Given the description of an element on the screen output the (x, y) to click on. 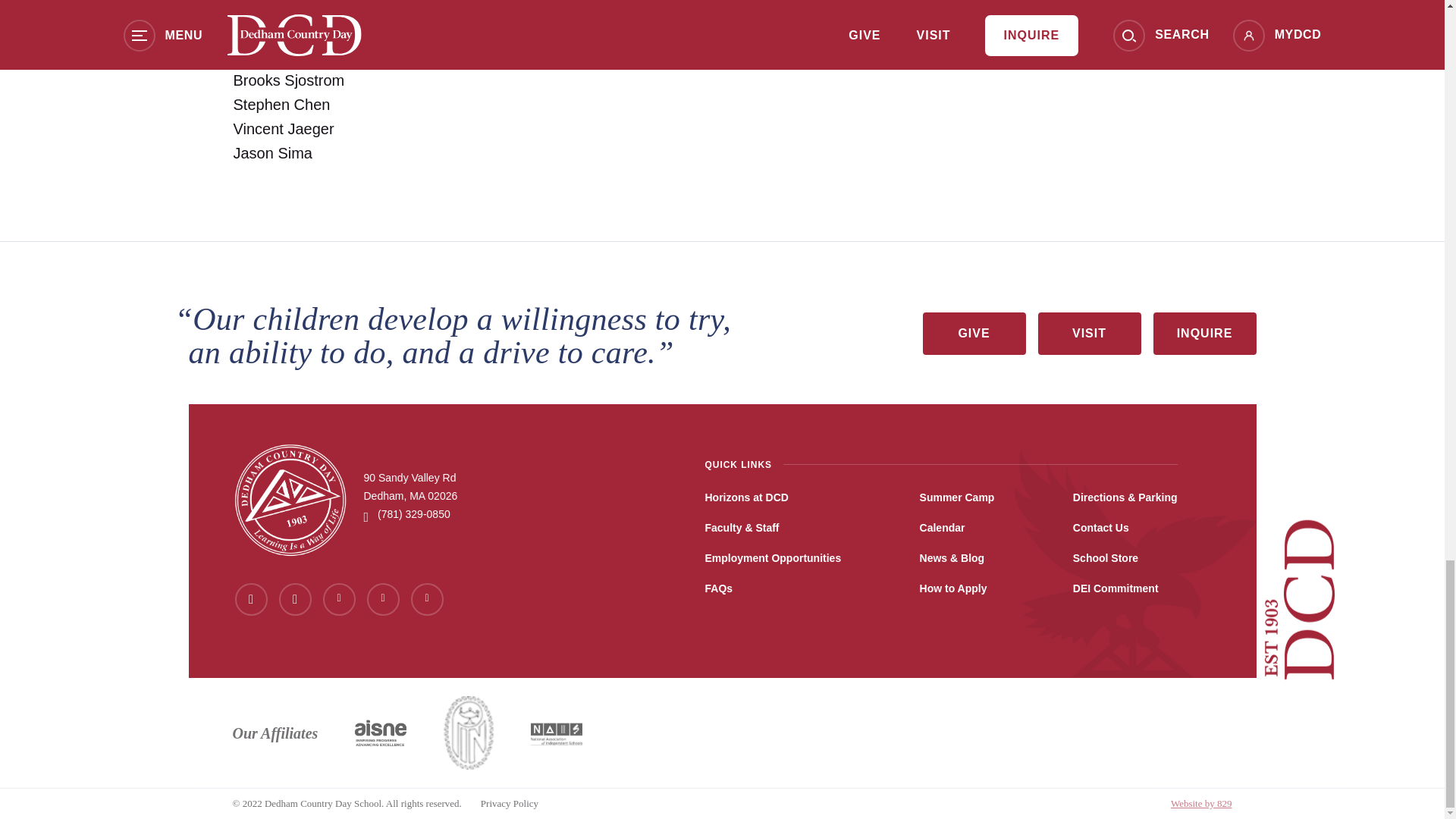
LinkedIn (339, 599)
Vimeo (427, 599)
Twitter (295, 599)
Facebook (250, 599)
Instagram (382, 599)
